Given the description of an element on the screen output the (x, y) to click on. 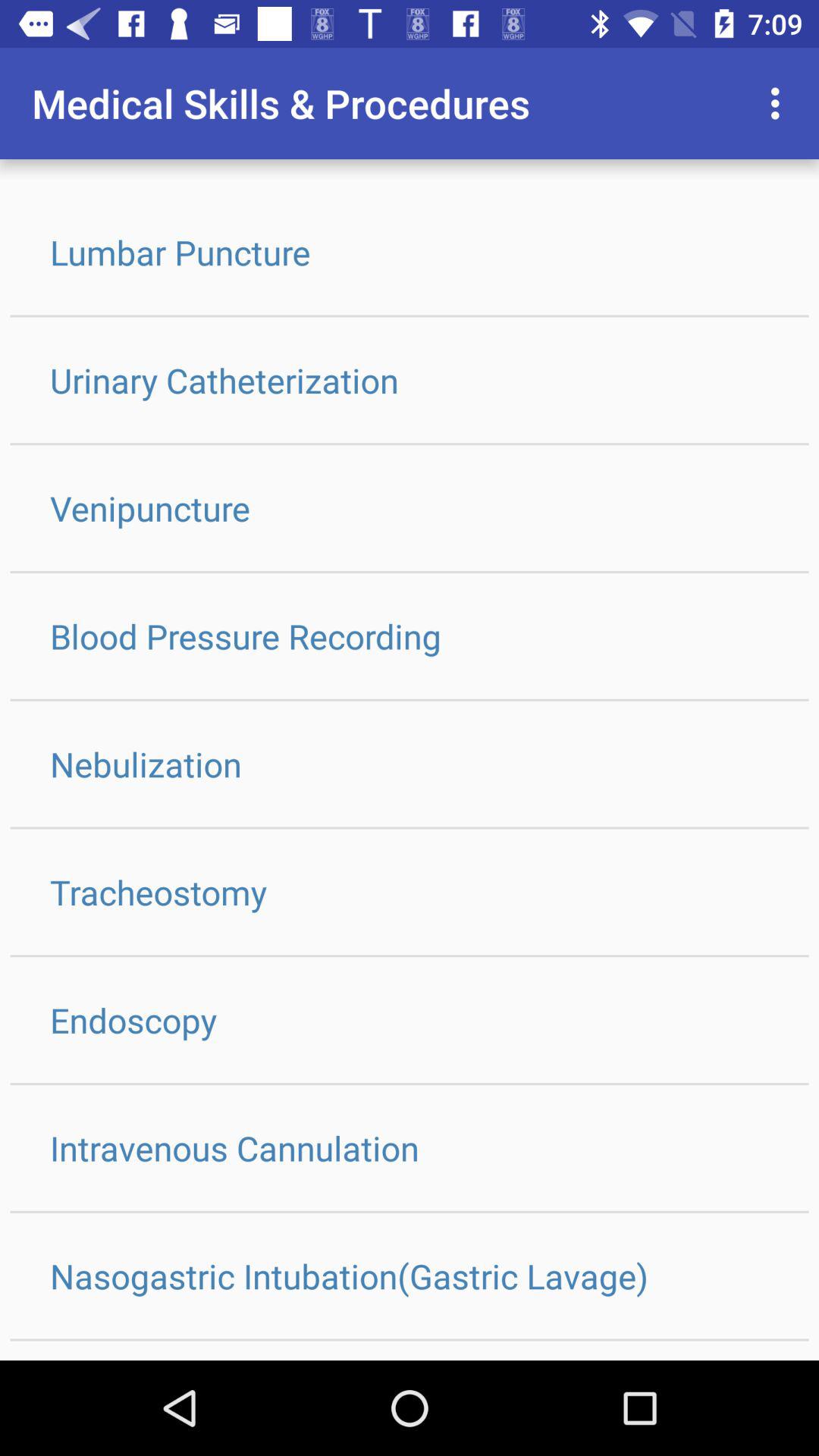
turn off the item above the intravenous cannulation (409, 1019)
